Given the description of an element on the screen output the (x, y) to click on. 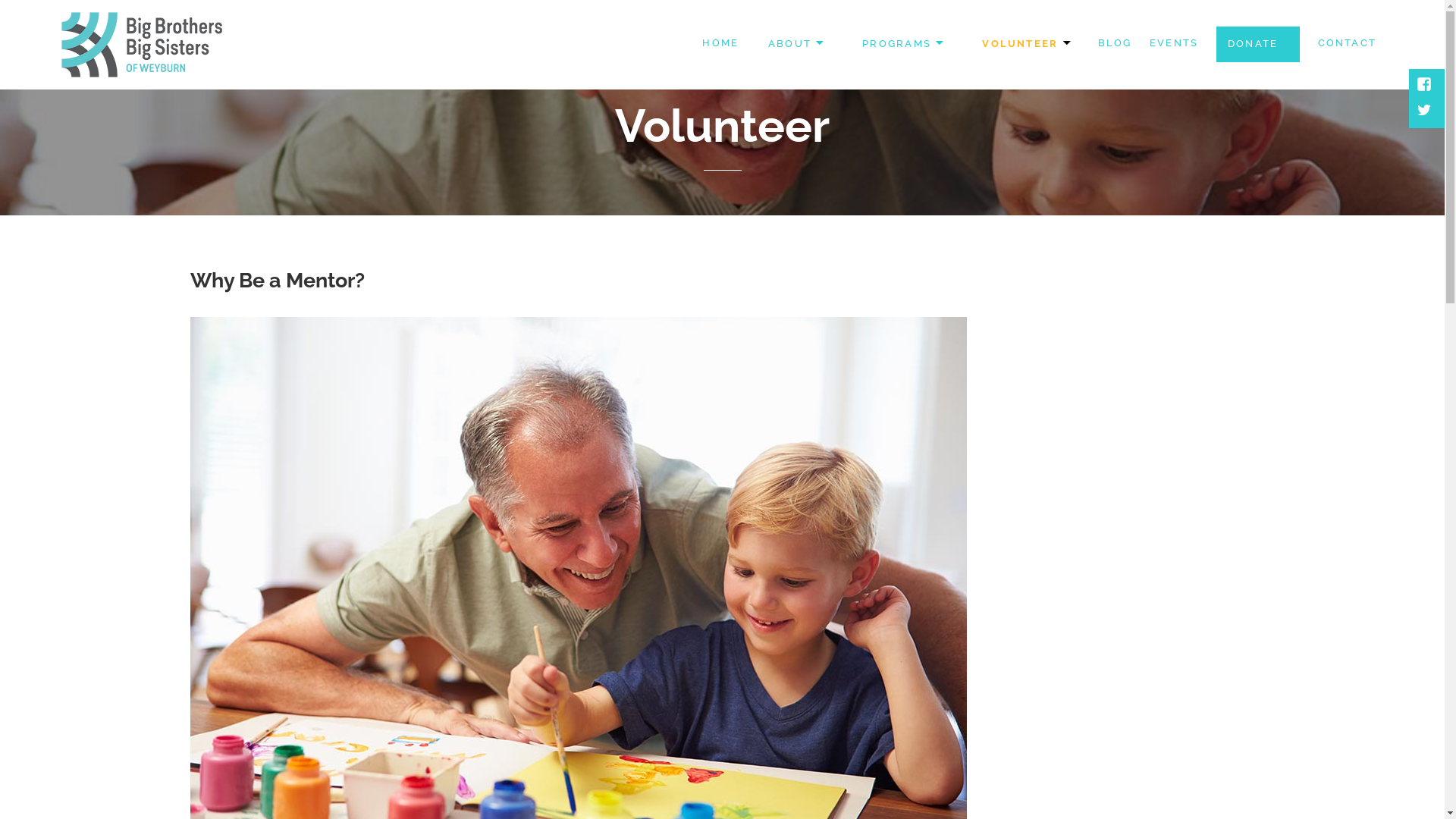
CONTACT Element type: text (1346, 43)
Twitter Element type: text (1425, 111)
EVENTS Element type: text (1173, 43)
Facebook Element type: text (1425, 85)
Big Brothers Big Sisters of Weyburn Element type: text (230, 90)
VOLUNTEER Element type: text (1024, 43)
BLOG Element type: text (1115, 43)
HOME Element type: text (720, 43)
DONATE Element type: text (1257, 43)
PROGRAMS Element type: text (901, 43)
ABOUT Element type: text (794, 43)
